Given the description of an element on the screen output the (x, y) to click on. 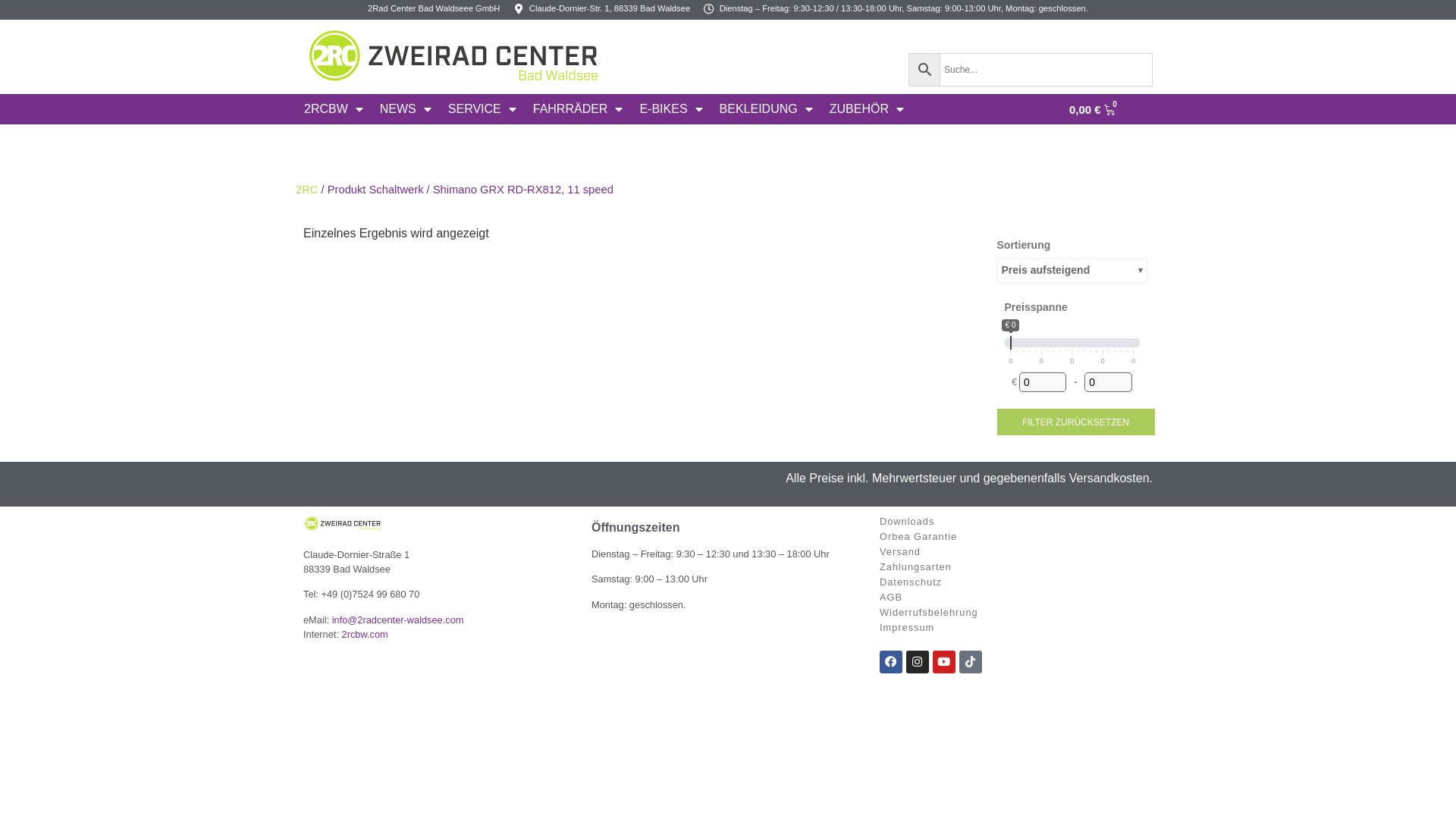
Orbea Garantie Element type: text (1015, 536)
SERVICE Element type: text (481, 109)
NEWS Element type: text (405, 109)
2RCBW Element type: text (333, 109)
Impressum Element type: text (1015, 627)
2RC Element type: text (306, 189)
info@2radcenter-waldsee.com Element type: text (398, 619)
Datenschutz Element type: text (1015, 581)
Widerrufsbelehrung Element type: text (1015, 612)
Downloads Element type: text (1015, 521)
Versand Element type: text (1015, 551)
BEKLEIDUNG Element type: text (766, 109)
AGB Element type: text (1015, 597)
2rcbw.com Element type: text (365, 634)
E-BIKES Element type: text (670, 109)
Zahlungsarten Element type: text (1015, 566)
Preis aufsteigend Element type: text (1071, 269)
